Given the description of an element on the screen output the (x, y) to click on. 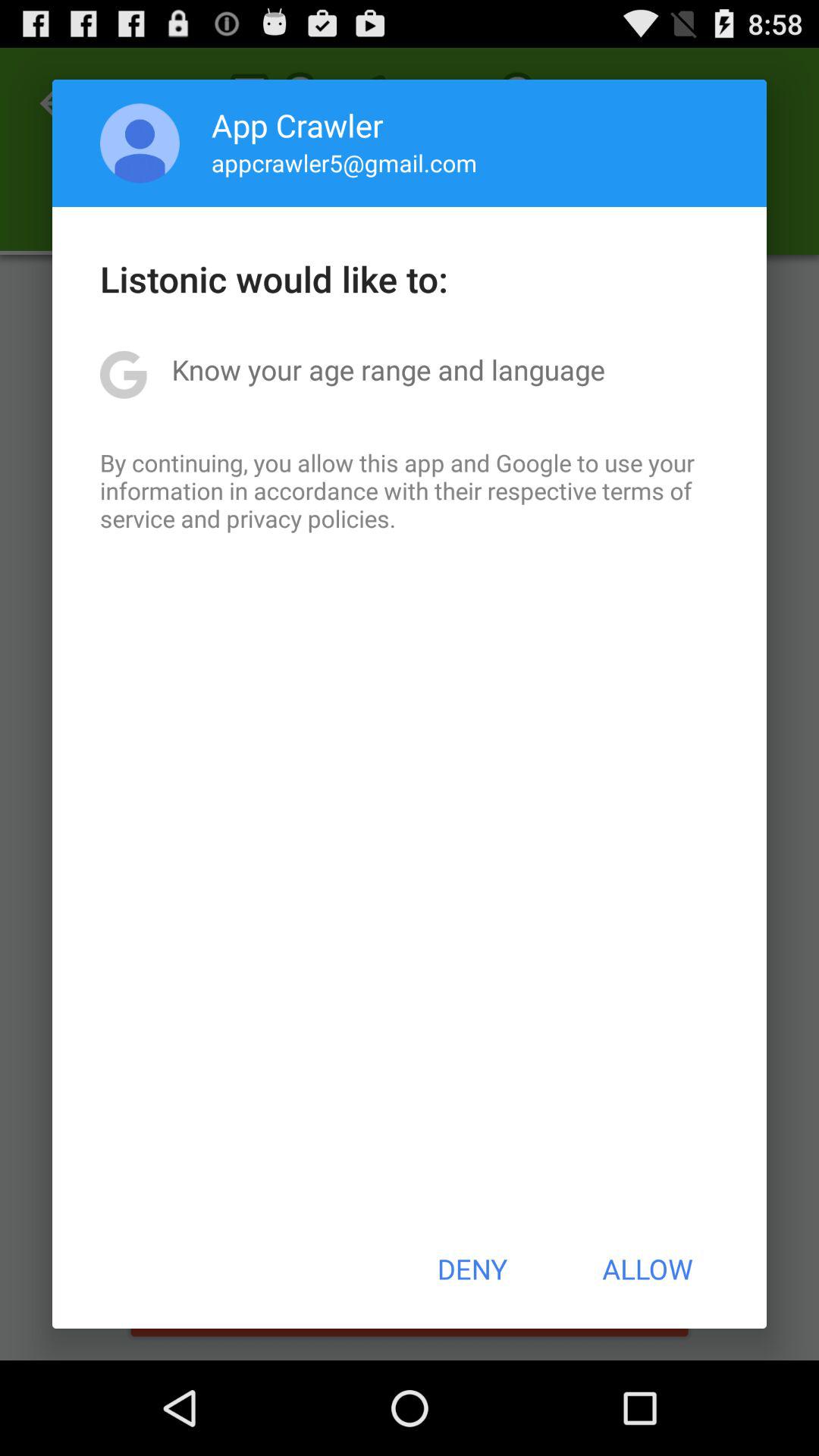
click know your age (388, 369)
